Given the description of an element on the screen output the (x, y) to click on. 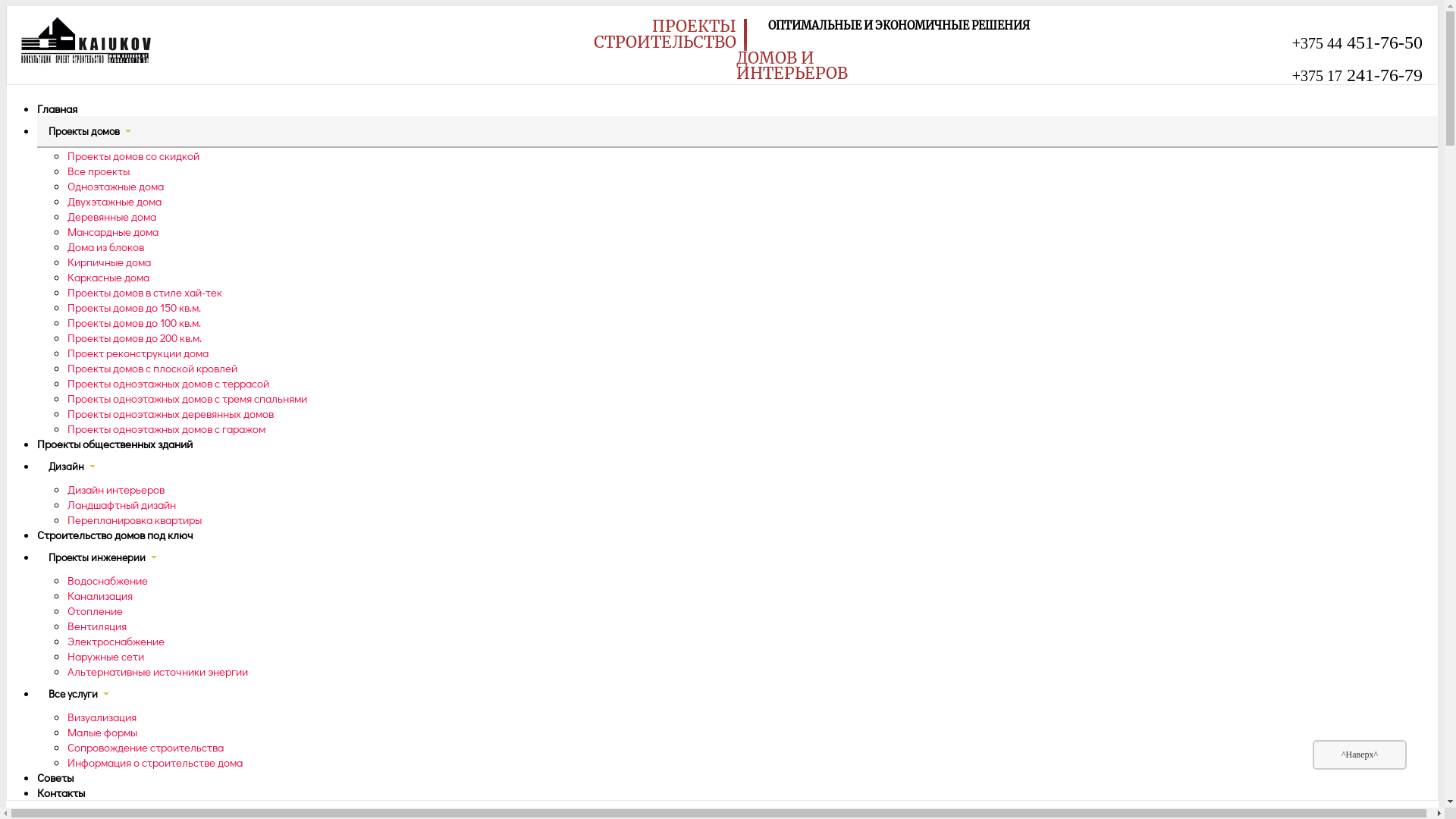
+375 44 451-76-50 Element type: text (1357, 42)
+375 17 241-76-79 Element type: text (1357, 74)
